Given the description of an element on the screen output the (x, y) to click on. 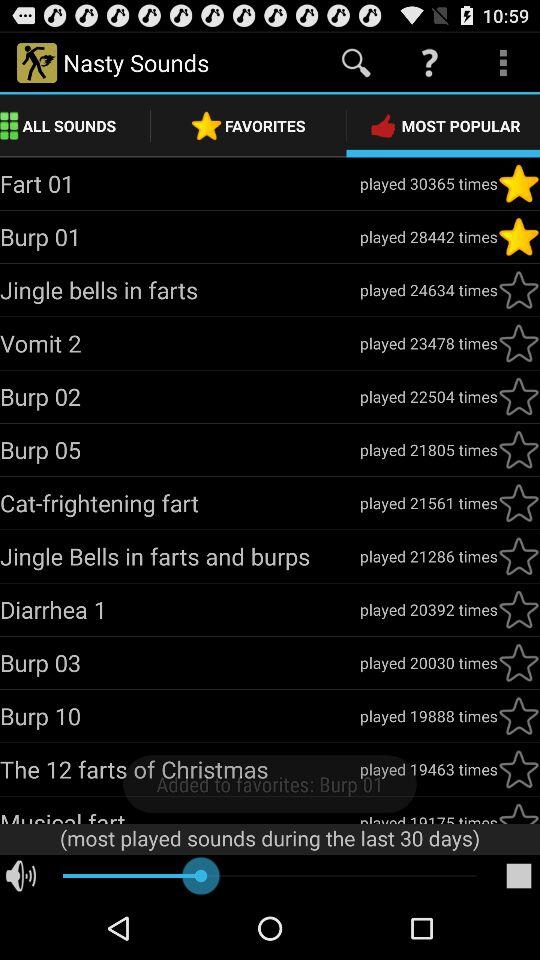
launch icon next to the burp 10 (428, 715)
